Given the description of an element on the screen output the (x, y) to click on. 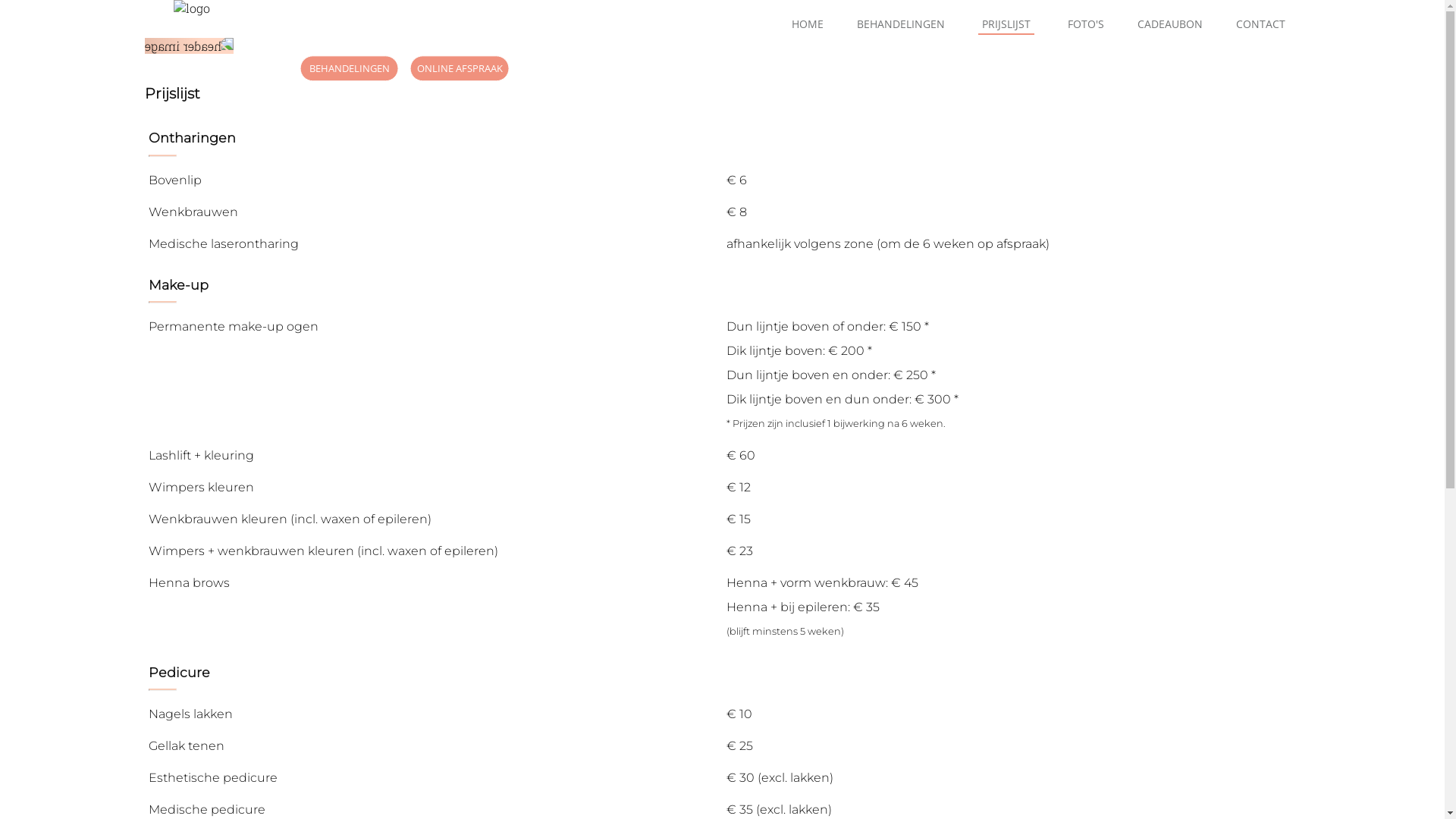
PRIJSLIJST Element type: text (1006, 23)
CADEAUBON Element type: text (1169, 23)
HOME Element type: text (807, 23)
BEHANDELINGEN Element type: text (900, 23)
BEHANDELINGEN Element type: text (349, 68)
ONLINE AFSPRAAK Element type: text (459, 68)
FOTO'S Element type: text (1085, 23)
CONTACT Element type: text (1260, 23)
